Given the description of an element on the screen output the (x, y) to click on. 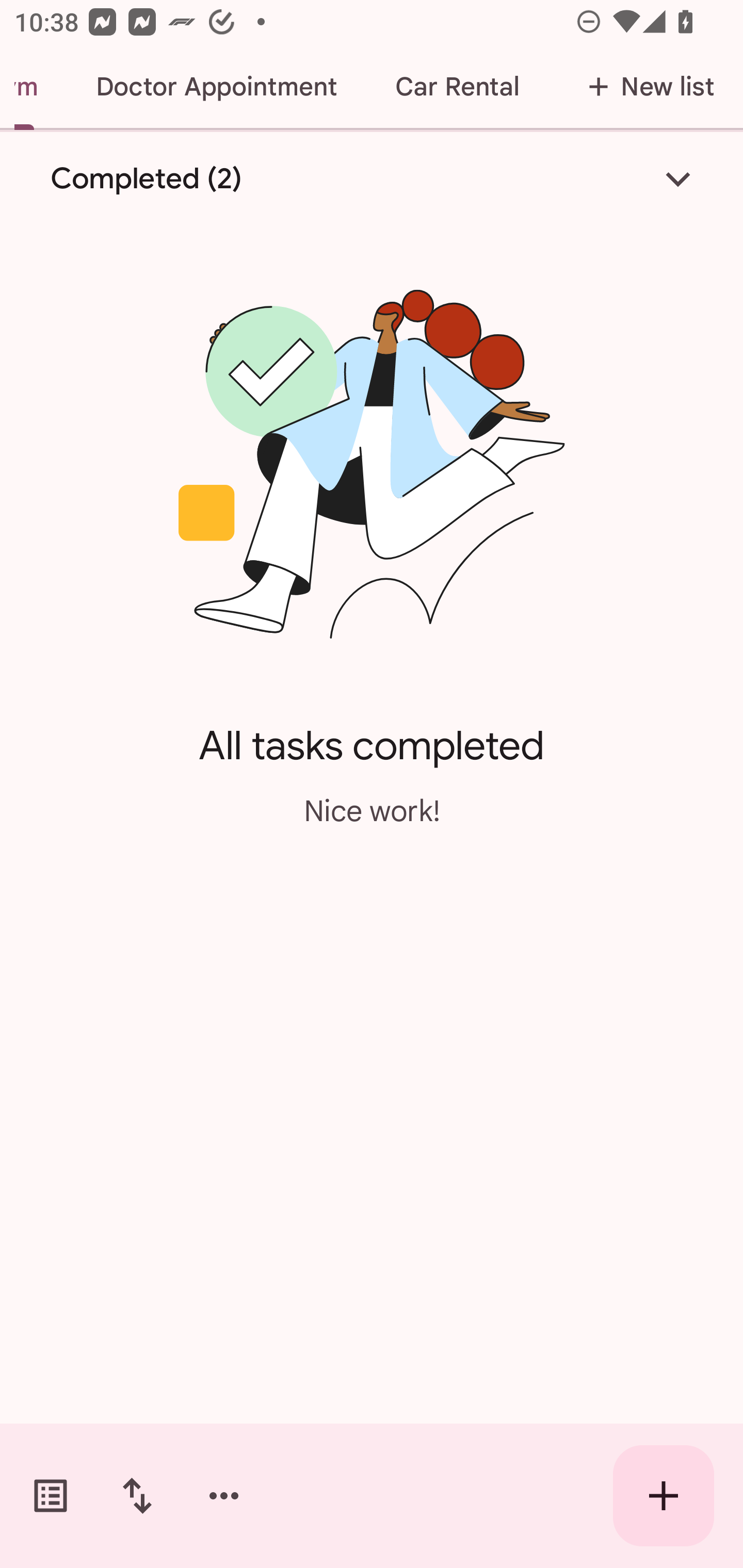
Doctor Appointment (215, 86)
Car Rental (456, 86)
New list (645, 86)
Completed (2) (371, 178)
Switch task lists (50, 1495)
Create new task (663, 1495)
Change sort order (136, 1495)
More options (223, 1495)
